Given the description of an element on the screen output the (x, y) to click on. 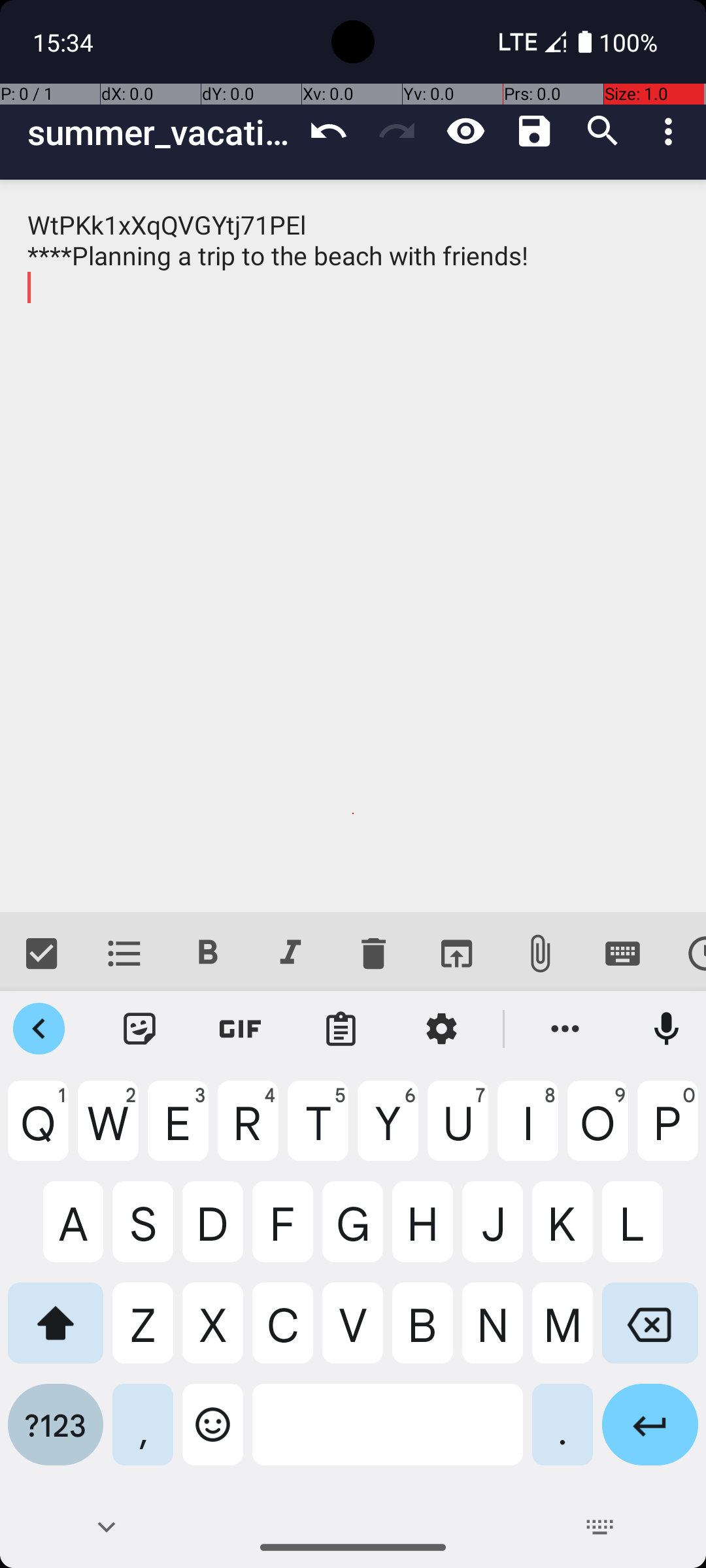
summer_vacation_plans_ZDk8 Element type: android.widget.TextView (160, 131)
WtPKk1xXqQVGYtj71PEl
****Planning a trip to the beach with friends!
 Element type: android.widget.EditText (353, 545)
